Given the description of an element on the screen output the (x, y) to click on. 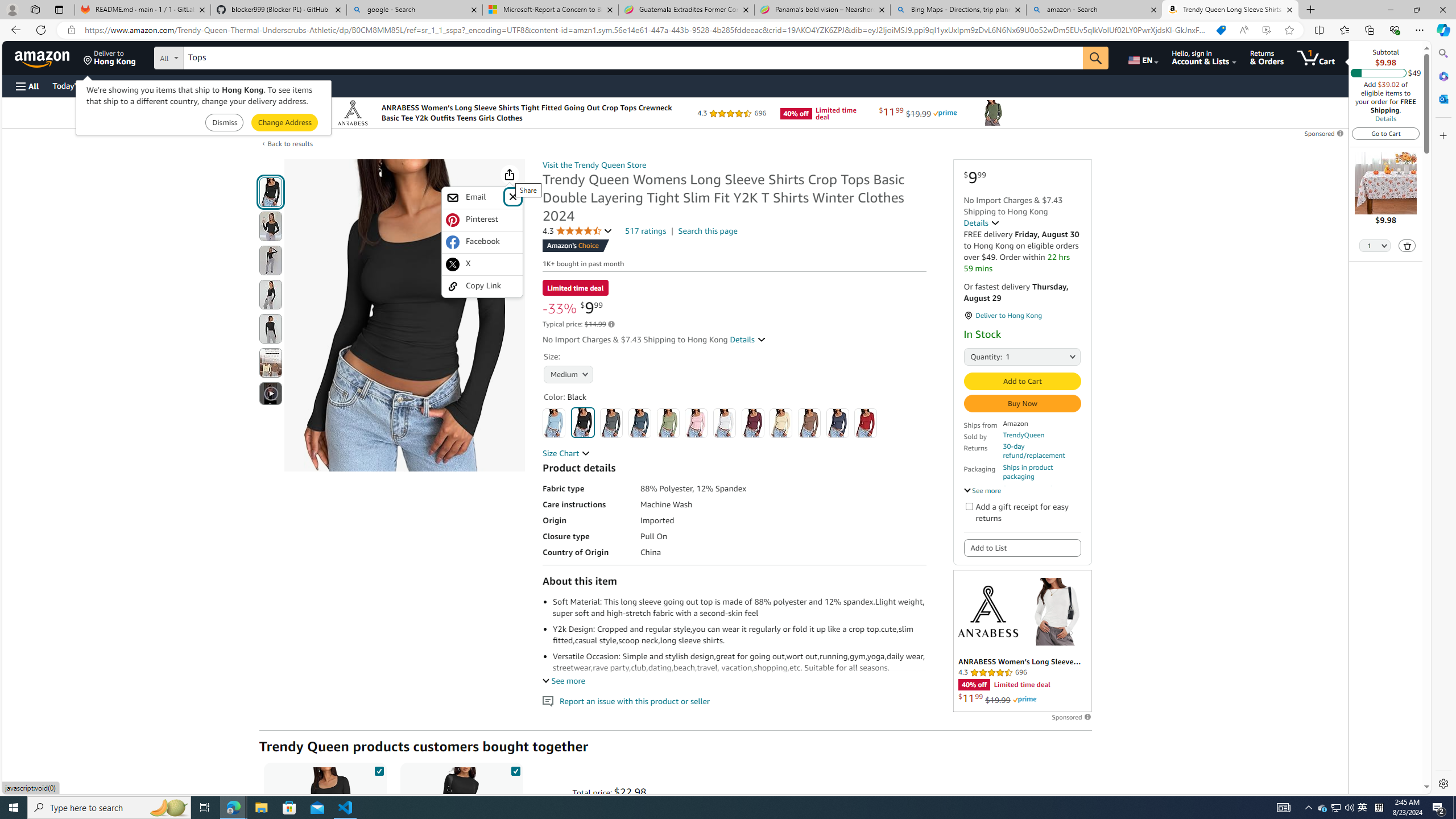
Apricot (781, 422)
Pinterest (482, 219)
Report an issue with this product or seller (548, 701)
Quantity: (976, 355)
Apricot (781, 422)
Light Green (667, 422)
Gray (611, 422)
Facebook (482, 241)
Search Amazon (633, 57)
Choose a language for shopping. (1142, 57)
Wine Red (752, 422)
